Given the description of an element on the screen output the (x, y) to click on. 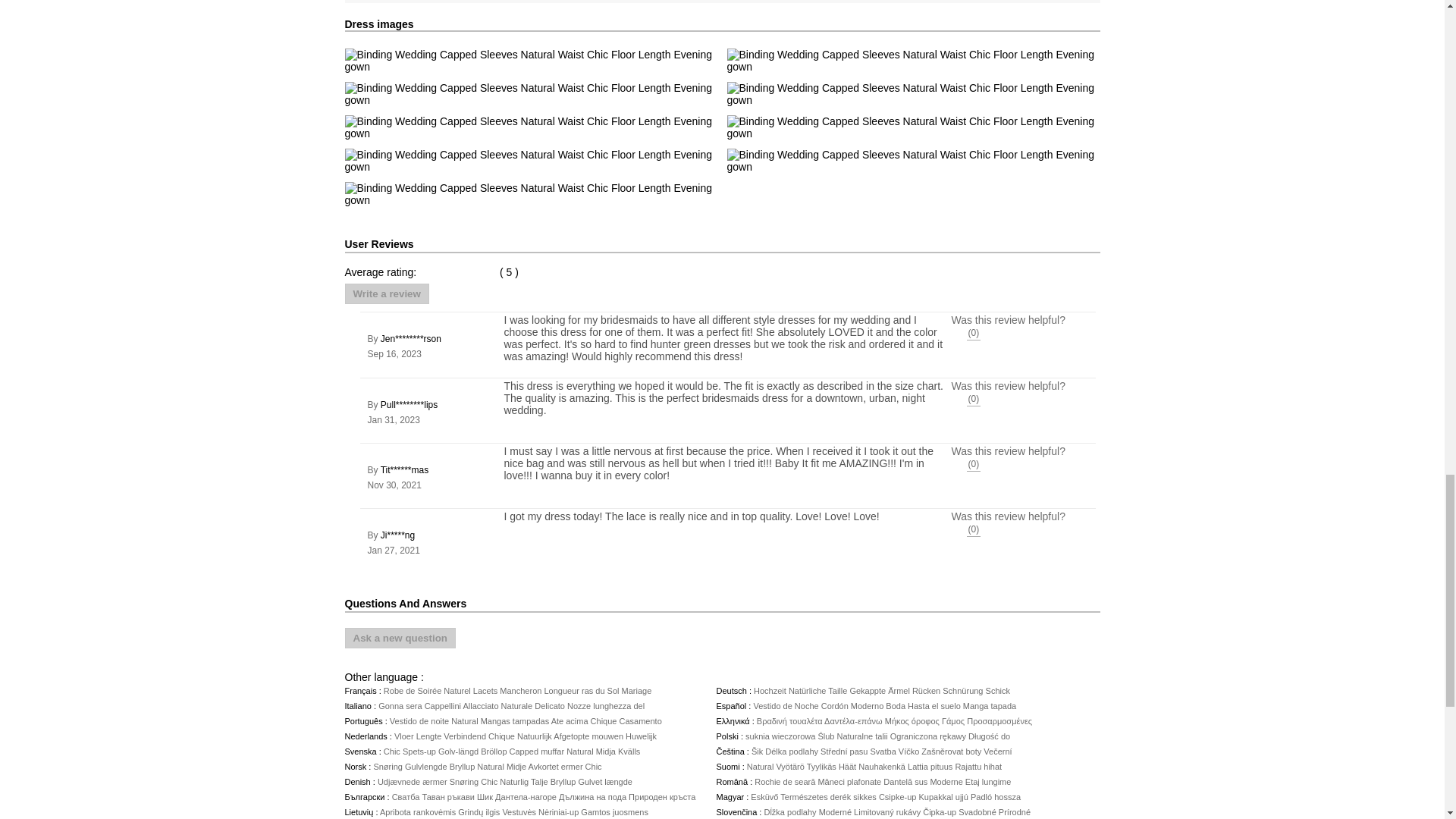
Write a review (385, 293)
Ask a new question (398, 638)
